Given the description of an element on the screen output the (x, y) to click on. 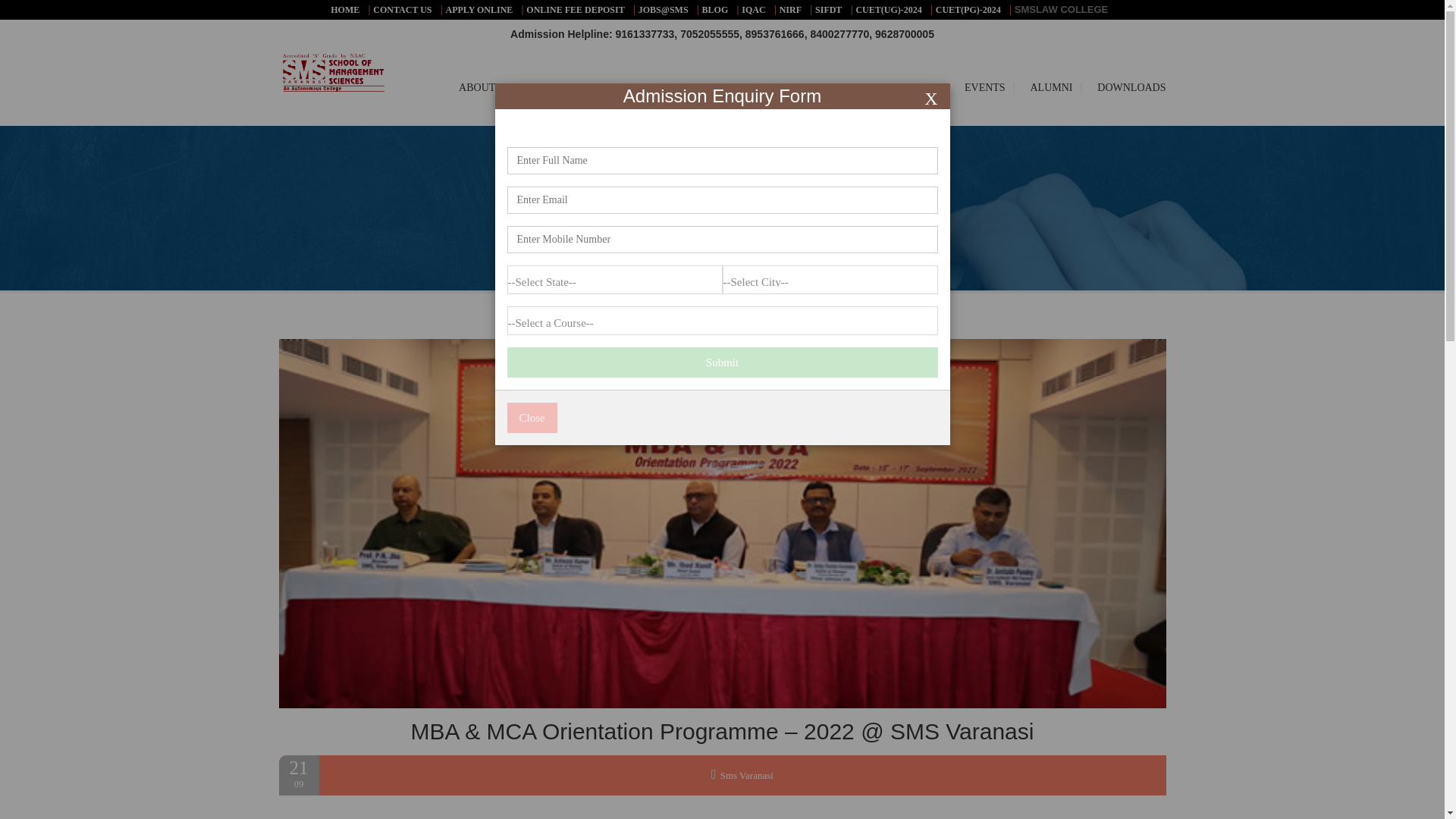
SMSLAW COLLEGE (1061, 9)
NIRF (790, 9)
IQAC (753, 9)
SIFDT (828, 9)
ONLINE FEE DEPOSIT (574, 9)
BLOG (715, 9)
ABOUT US (482, 87)
CONTACT US (401, 9)
APPLY ONLINE (479, 9)
SMS-VARANASI (320, 72)
